Given the description of an element on the screen output the (x, y) to click on. 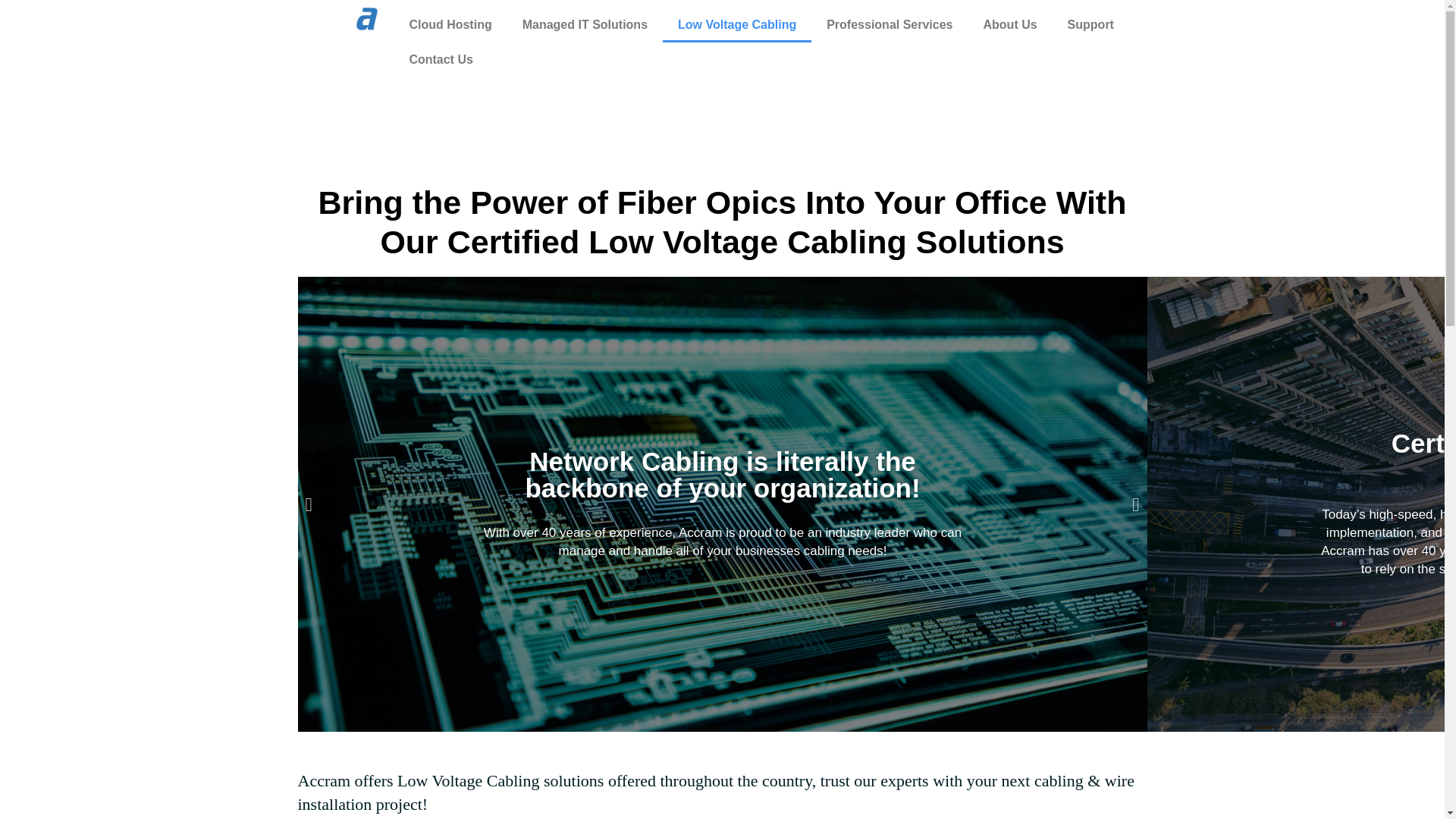
Professional Services (889, 24)
Cloud Hosting (449, 24)
Managed IT Solutions (584, 24)
Contact Us (440, 59)
Support (1090, 24)
About Us (1009, 24)
Low Voltage Cabling (736, 24)
